Given the description of an element on the screen output the (x, y) to click on. 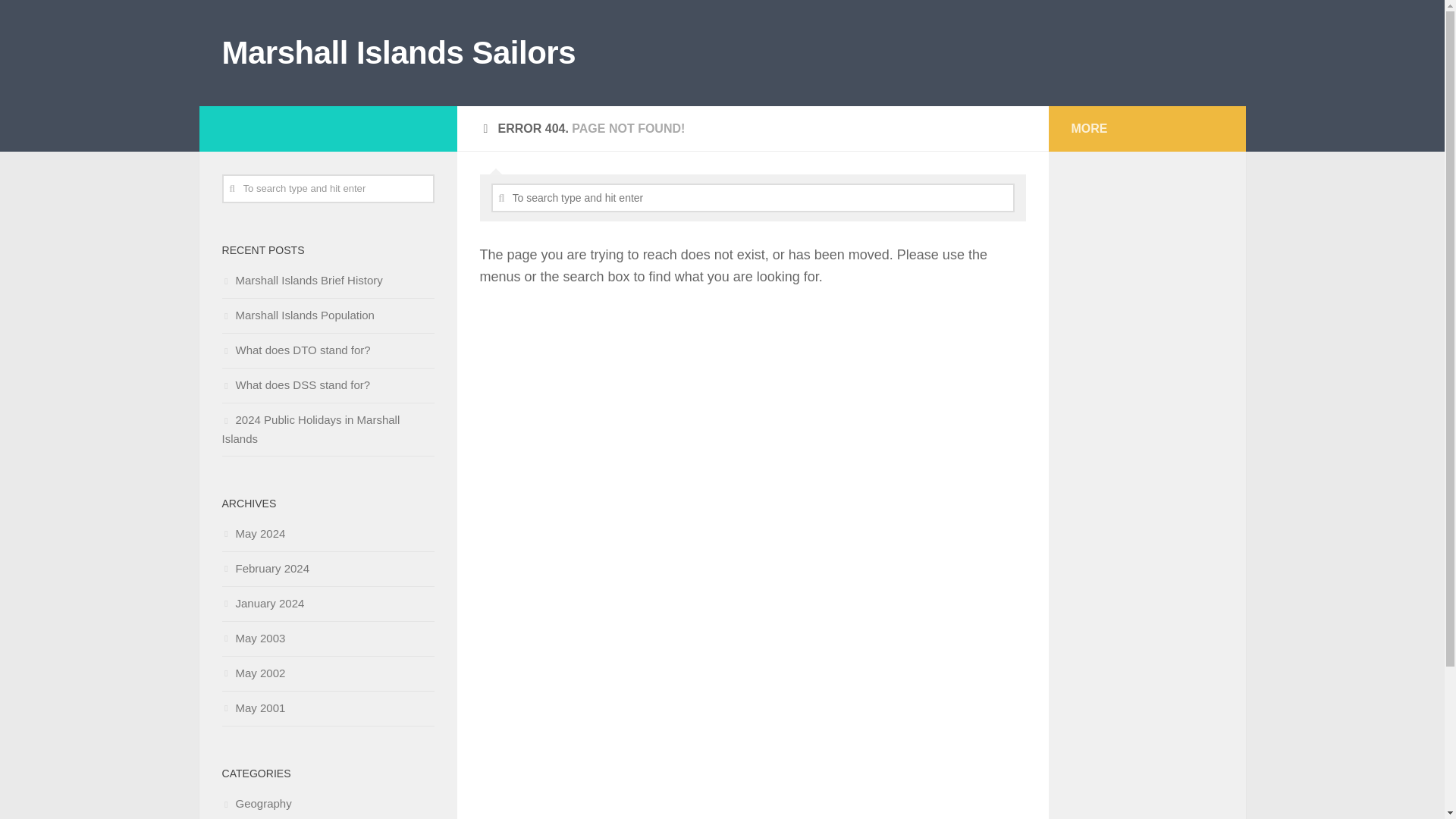
What does DSS stand for? (295, 384)
To search type and hit enter (327, 188)
What does DTO stand for? (295, 349)
January 2024 (262, 603)
Marshall Islands Brief History (301, 279)
Marshall Islands Population (297, 314)
2024 Public Holidays in Marshall Islands (309, 429)
Marshall Islands Sailors (398, 53)
May 2024 (253, 533)
To search type and hit enter (753, 197)
To search type and hit enter (327, 188)
May 2002 (253, 672)
To search type and hit enter (753, 197)
May 2003 (253, 637)
February 2024 (264, 567)
